Given the description of an element on the screen output the (x, y) to click on. 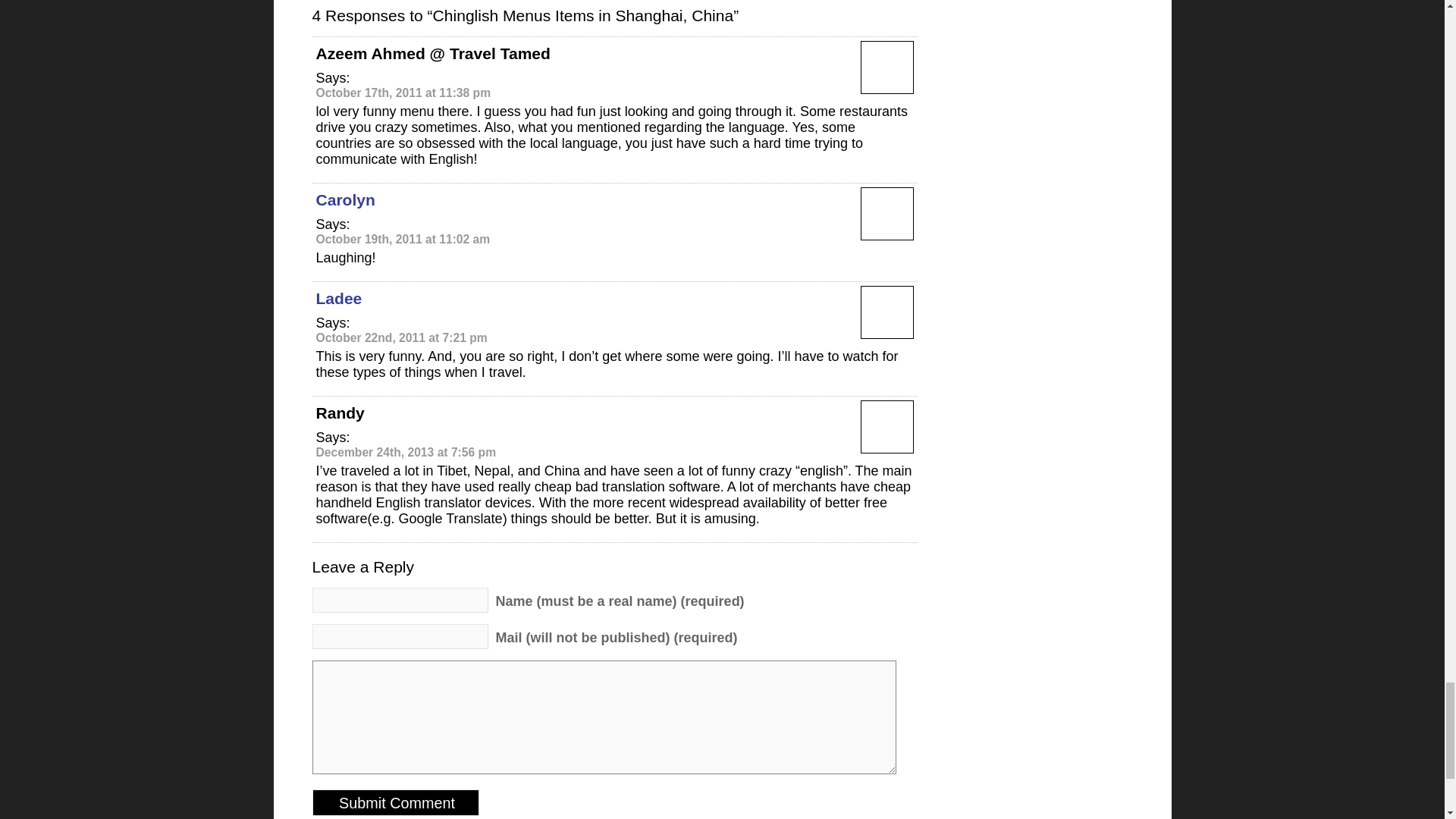
October 17th, 2011 at 11:38 pm (402, 92)
Submit Comment (396, 802)
